Given the description of an element on the screen output the (x, y) to click on. 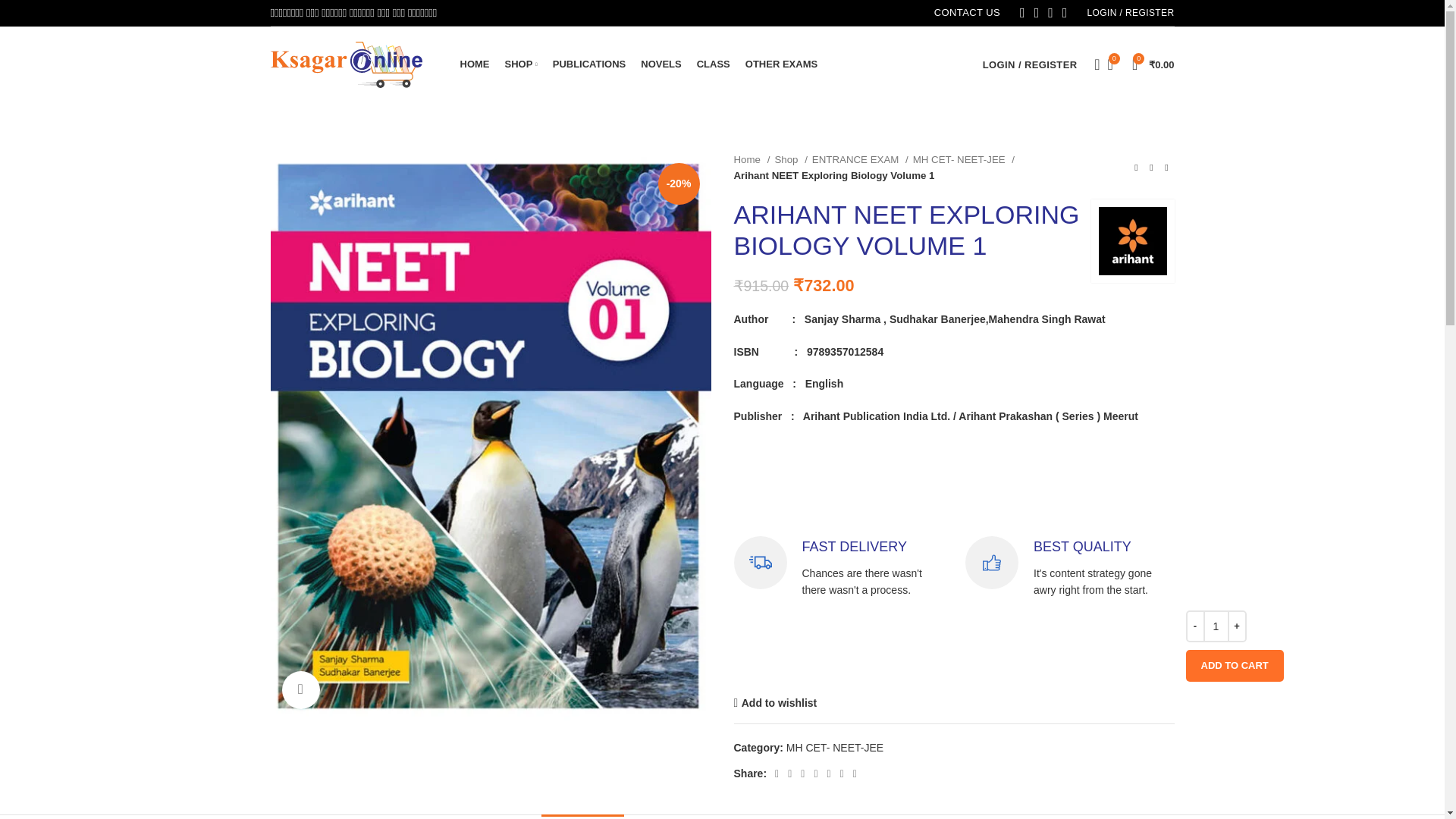
CONTACT US (967, 13)
HOME (474, 64)
Shopping cart (1153, 64)
accessories-infobox-1 (760, 562)
My account (1029, 64)
PUBLICATIONS (589, 64)
Arihant Publications India Limited (1131, 241)
SHOP (521, 64)
ENTRANCE EXAM (860, 159)
Home (751, 159)
accessories-infobox-2 (991, 562)
NOVELS (660, 64)
OTHER EXAMS (780, 64)
My account (1129, 13)
Shop (790, 159)
